Given the description of an element on the screen output the (x, y) to click on. 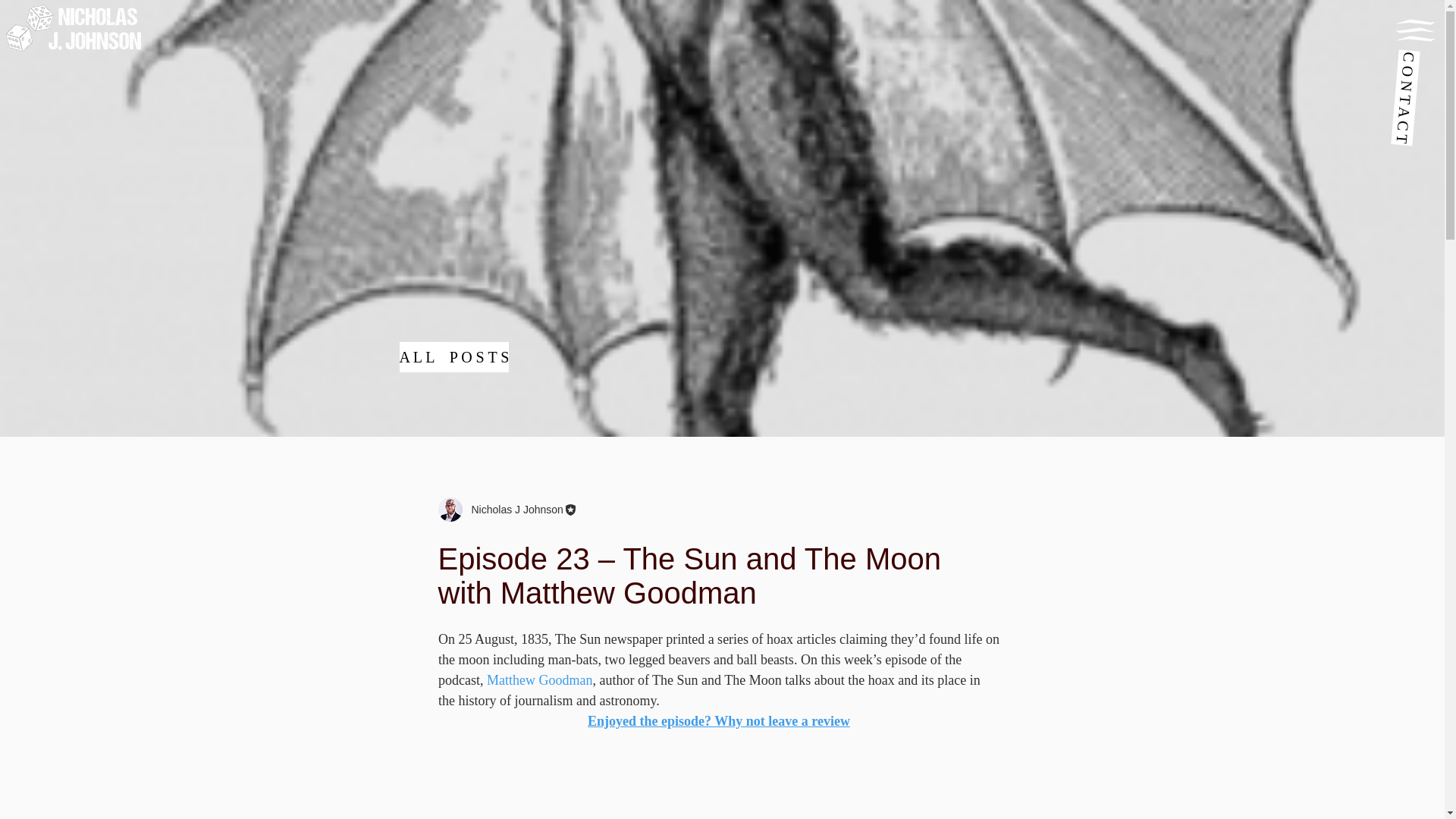
Nicholas J Johnson (513, 509)
Matthew Goodman (538, 679)
Enjoyed the episode? Why not leave a review (719, 720)
A L L    P O S T S (453, 357)
